Given the description of an element on the screen output the (x, y) to click on. 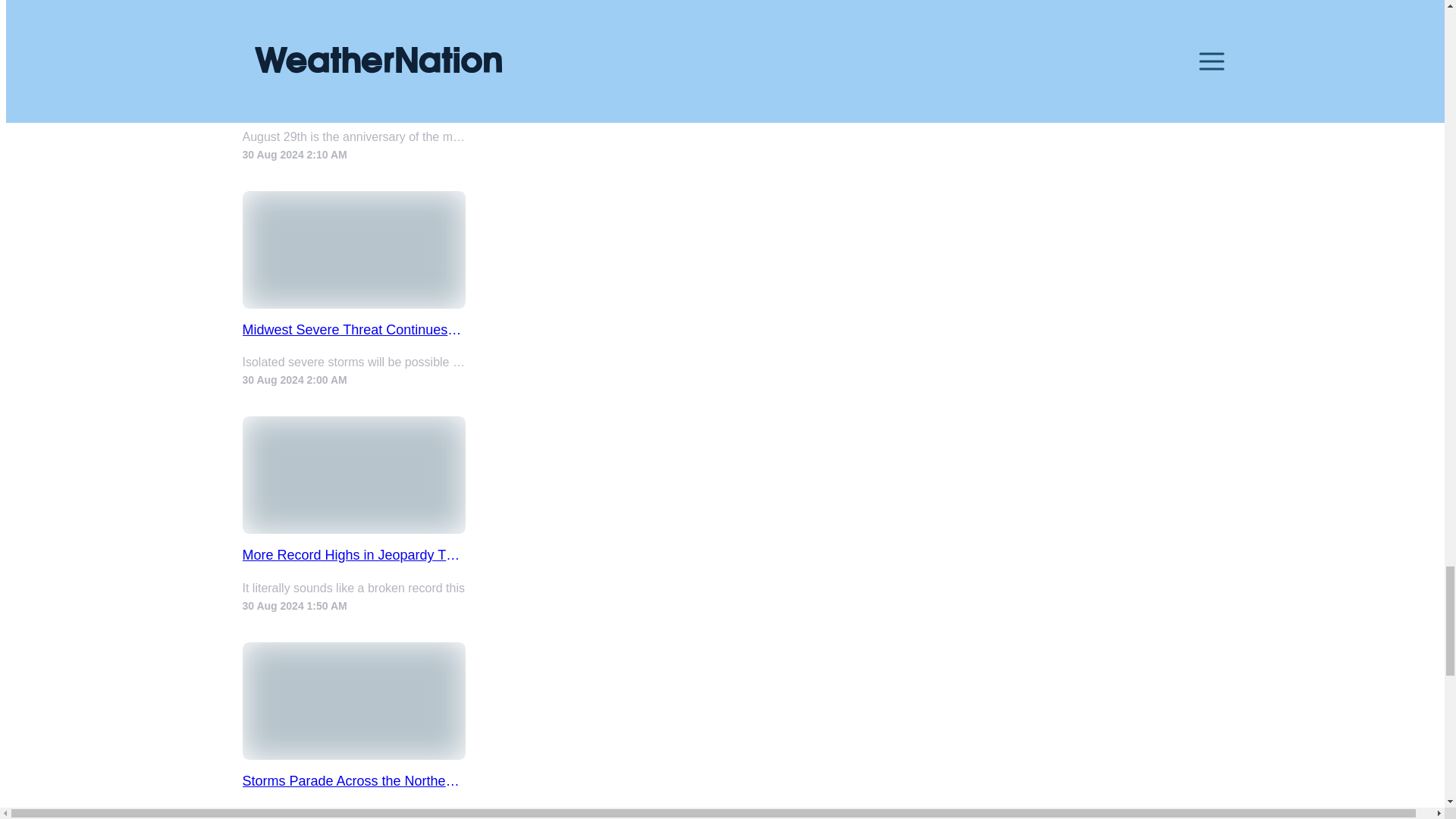
Midwest Severe Threat Continues Friday (354, 330)
More Record Highs in Jeopardy This Week (354, 555)
Storms Parade Across the Northeast Friday and Saturday (354, 781)
